Given the description of an element on the screen output the (x, y) to click on. 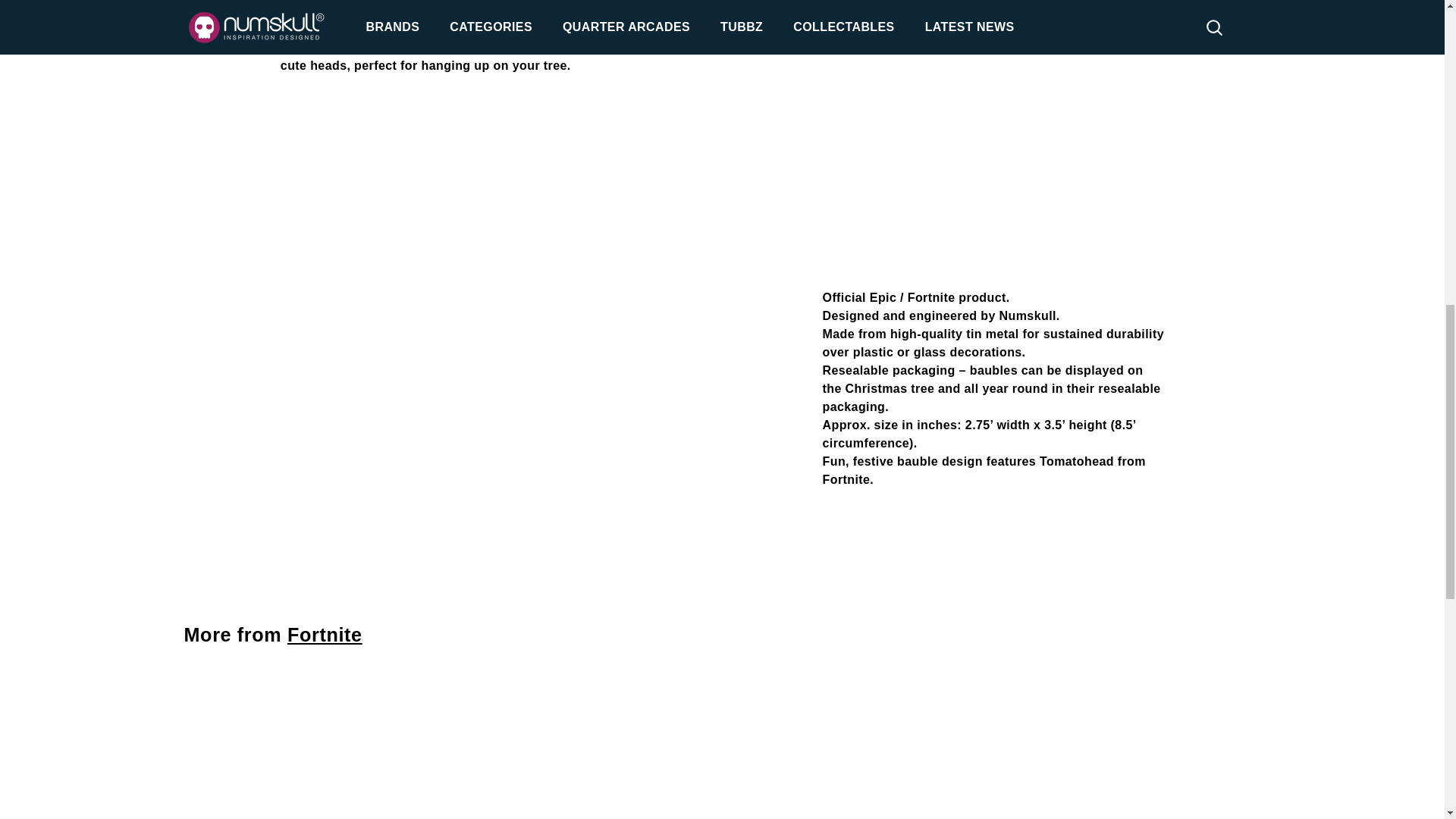
Fortnite (324, 634)
